Given the description of an element on the screen output the (x, y) to click on. 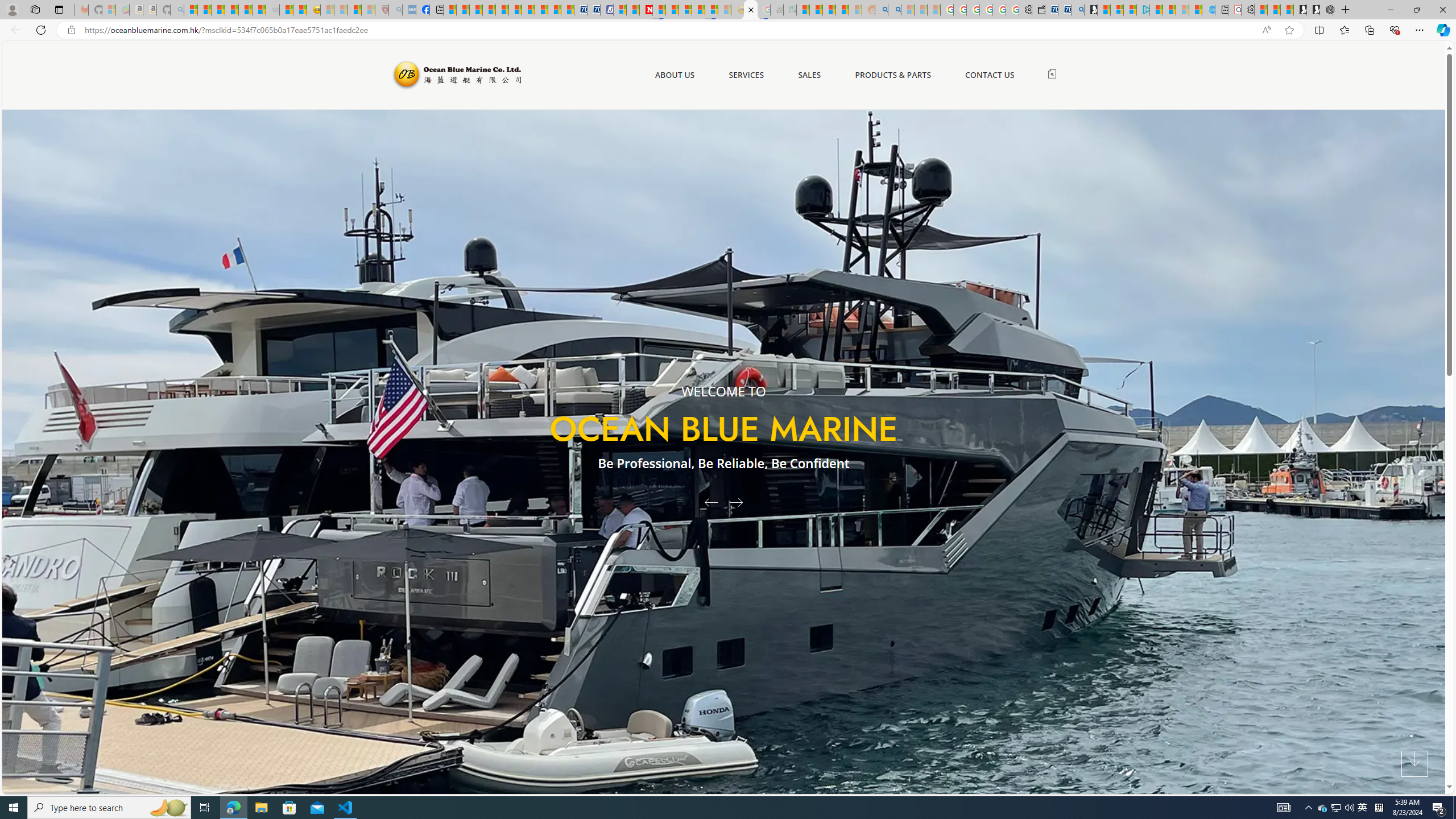
Bing Real Estate - Home sales and rental listings (1077, 9)
CONTACT US (989, 75)
